Given the description of an element on the screen output the (x, y) to click on. 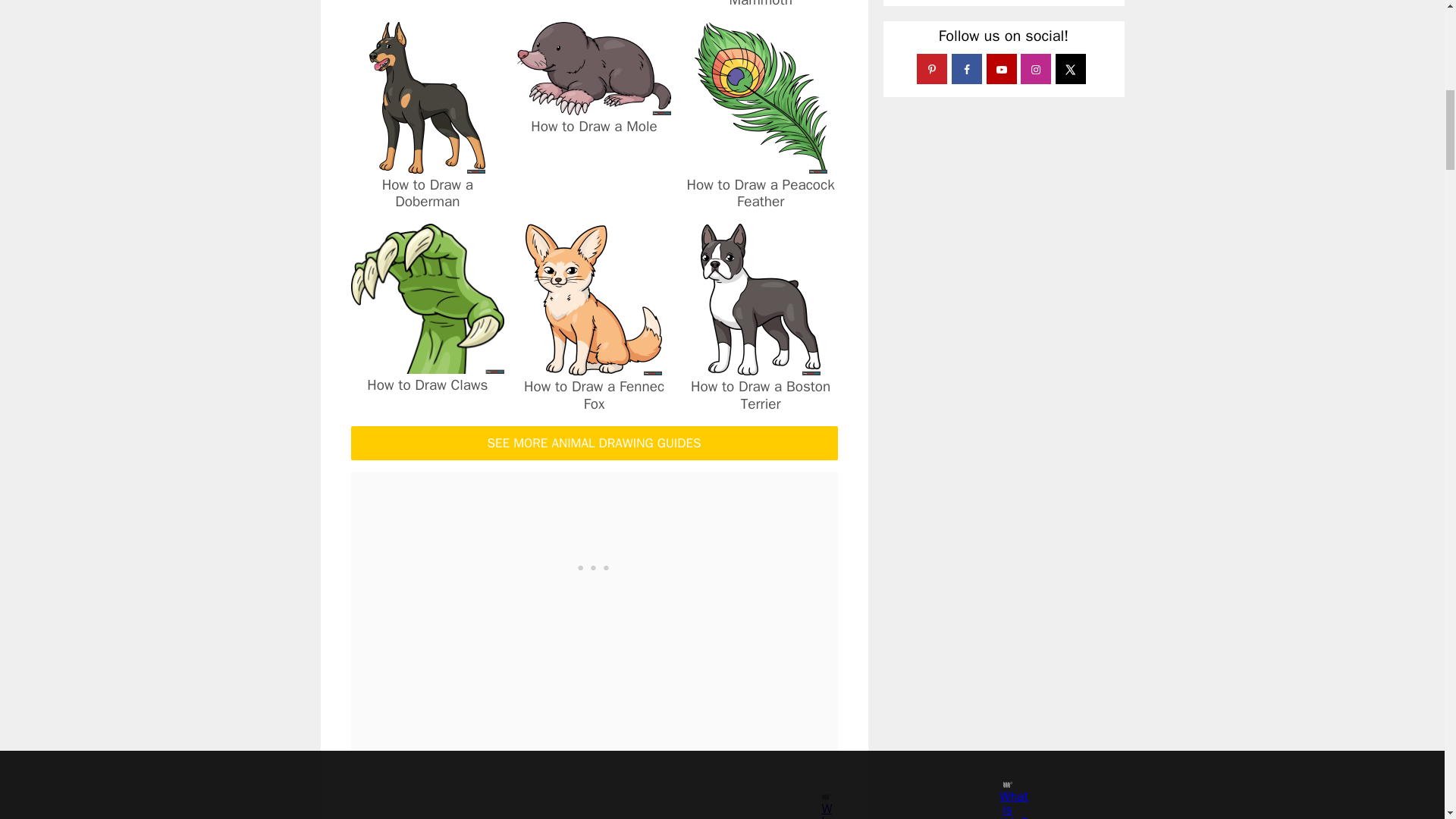
How to Draw a Mammoth (760, 4)
How to Draw Claws (426, 363)
3rd party ad content (593, 565)
How to Draw a Mole (593, 105)
How to Draw a Doberman (427, 193)
How to Draw a Peacock Feather (760, 193)
How to Draw a Mole (594, 126)
How to Draw a Fennec Fox (593, 365)
How to Draw Claws (426, 384)
How to Draw a Boston Terrier (759, 395)
How to Draw a Doberman (426, 163)
How to Draw a Boston Terrier (760, 365)
SEE MORE ANIMAL DRAWING GUIDES (593, 443)
How to Draw a Fennec Fox (593, 395)
How to Draw a Peacock Feather (760, 163)
